Given the description of an element on the screen output the (x, y) to click on. 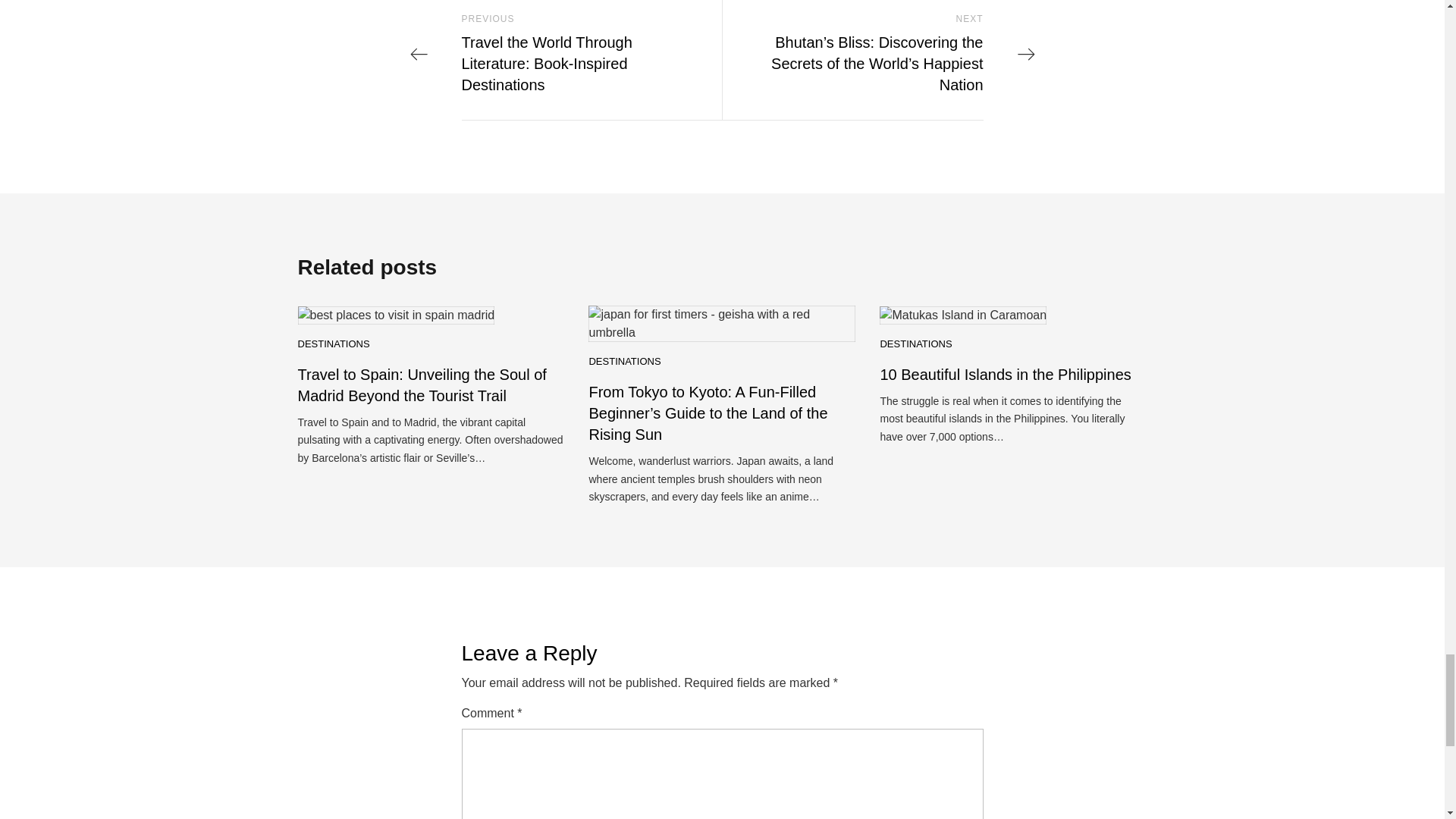
DESTINATIONS (333, 344)
View all posts in Destinations (624, 361)
View all posts in Destinations (915, 344)
DESTINATIONS (624, 361)
10 Beautiful Islands in the Philippines (1005, 374)
View all posts in Destinations (333, 344)
DESTINATIONS (915, 344)
